Given the description of an element on the screen output the (x, y) to click on. 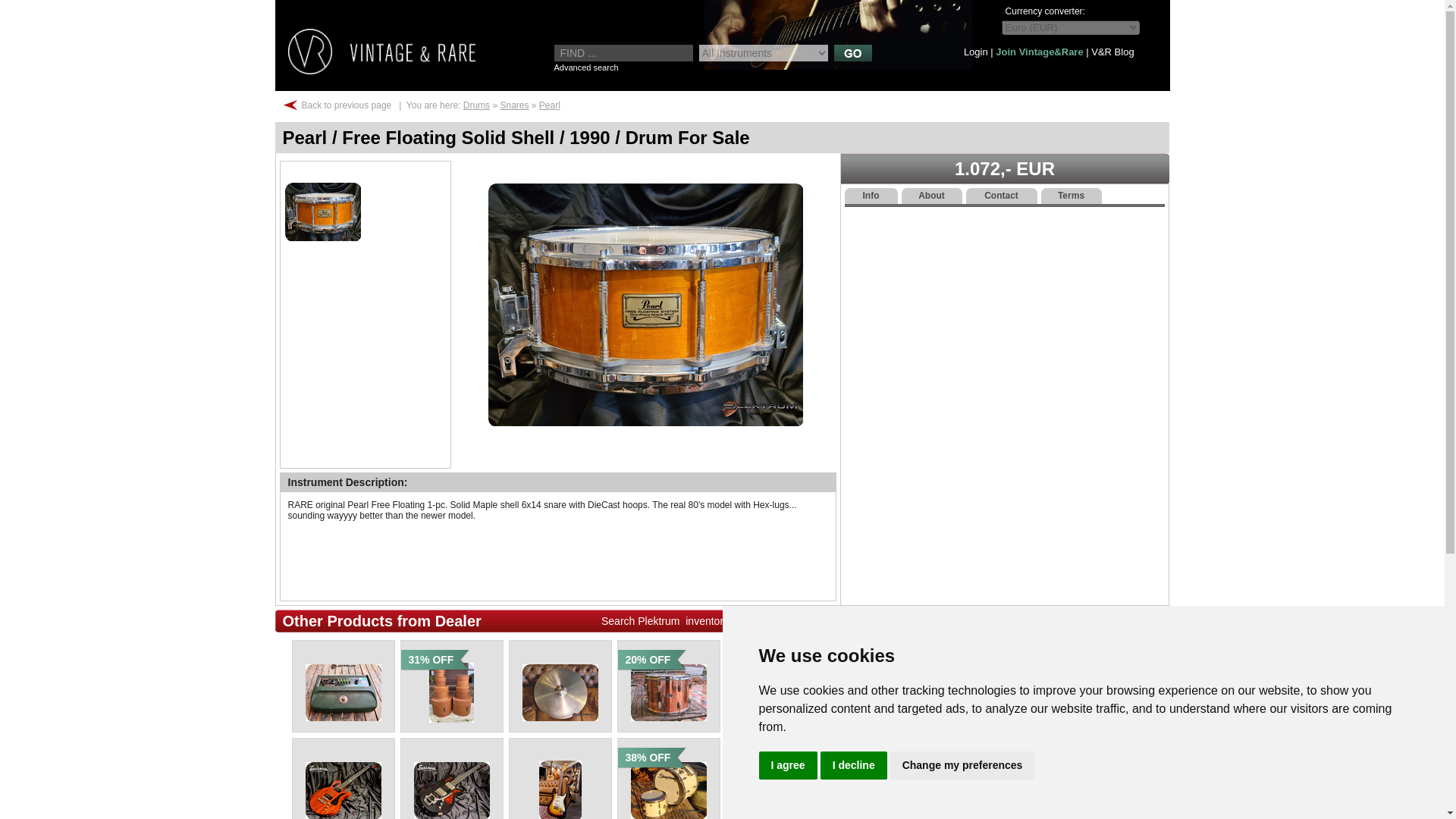
I agree (787, 765)
Login (975, 51)
Instrument Description: (347, 481)
Info (871, 195)
About (930, 195)
Pearl (549, 104)
Terms (1070, 195)
Snares (513, 104)
Drums (476, 104)
I decline (853, 765)
Change my preferences (962, 765)
1 (322, 210)
Snares (513, 104)
Pearl (549, 104)
Login (975, 51)
